Given the description of an element on the screen output the (x, y) to click on. 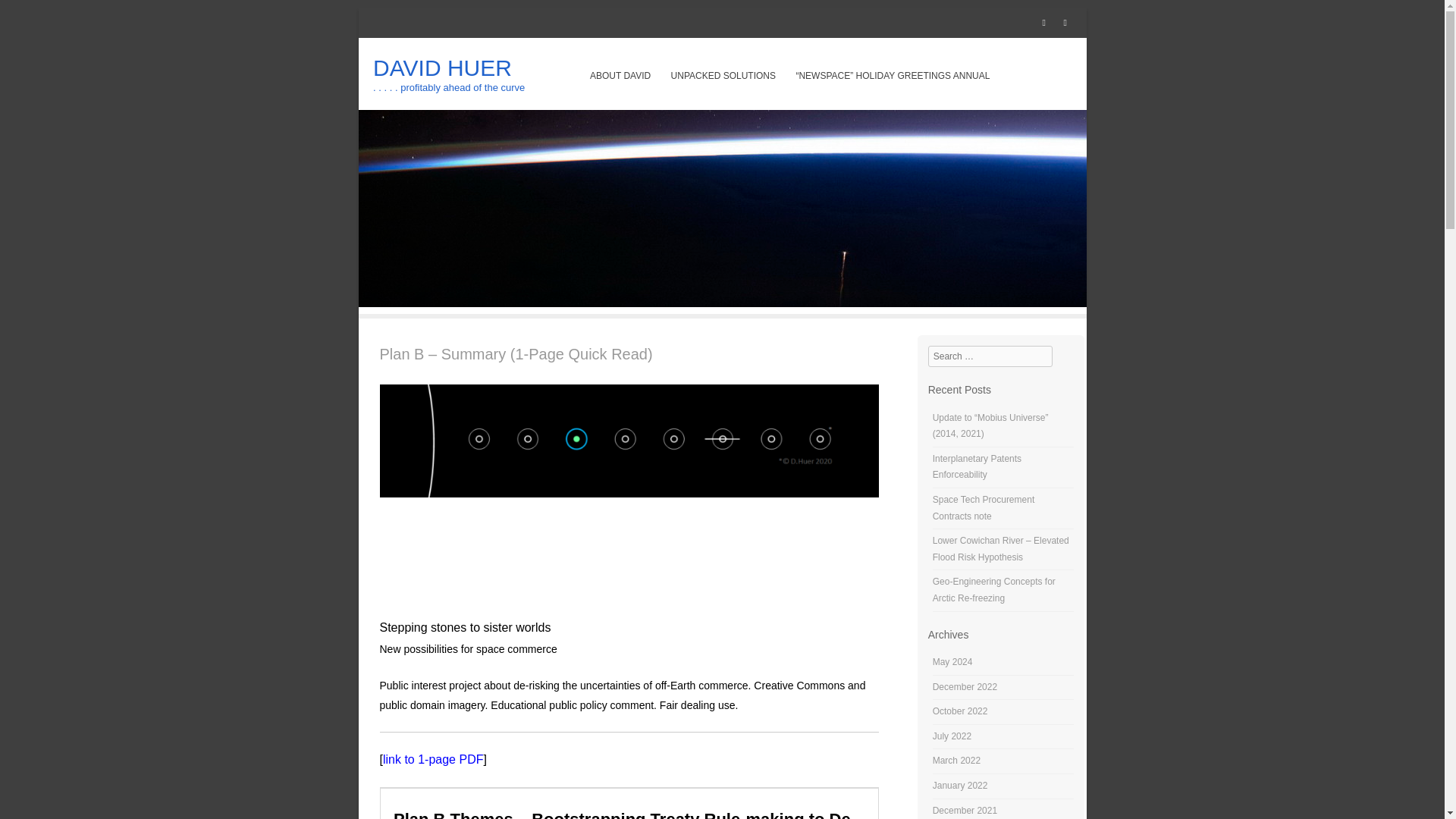
Search (33, 17)
UNPACKED SOLUTIONS (723, 75)
link to 1-page PDF (432, 758)
Space Tech Procurement Contracts note (984, 507)
DAVID HUER (722, 303)
ABOUT DAVID (620, 75)
Skip to content (630, 75)
Interplanetary Patents Enforceability (977, 466)
Geo-Engineering Concepts for Arctic Re-freezing (994, 589)
SKIP TO CONTENT (630, 75)
DAVID HUER (442, 67)
DAVID HUER (442, 67)
